Given the description of an element on the screen output the (x, y) to click on. 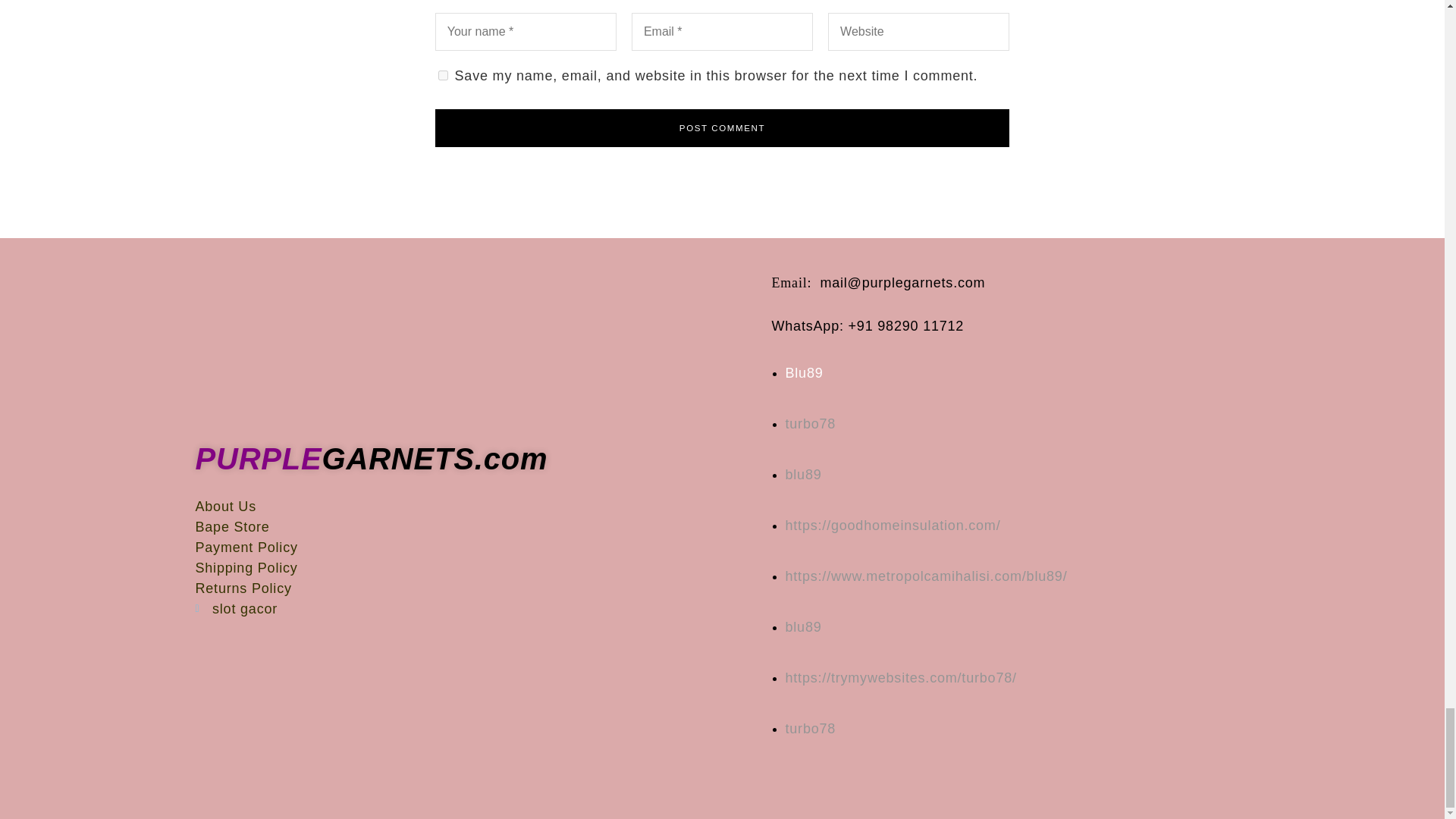
About Us (476, 506)
yes (443, 75)
turbo78 (810, 423)
turbo78 (901, 677)
Bape Store (476, 526)
Payment Policy (476, 547)
blu89 (926, 575)
turbo78 (810, 728)
blu89 (804, 474)
blu89 (893, 525)
Post Comment (722, 127)
blu89 (804, 626)
Post Comment (722, 127)
